Given the description of an element on the screen output the (x, y) to click on. 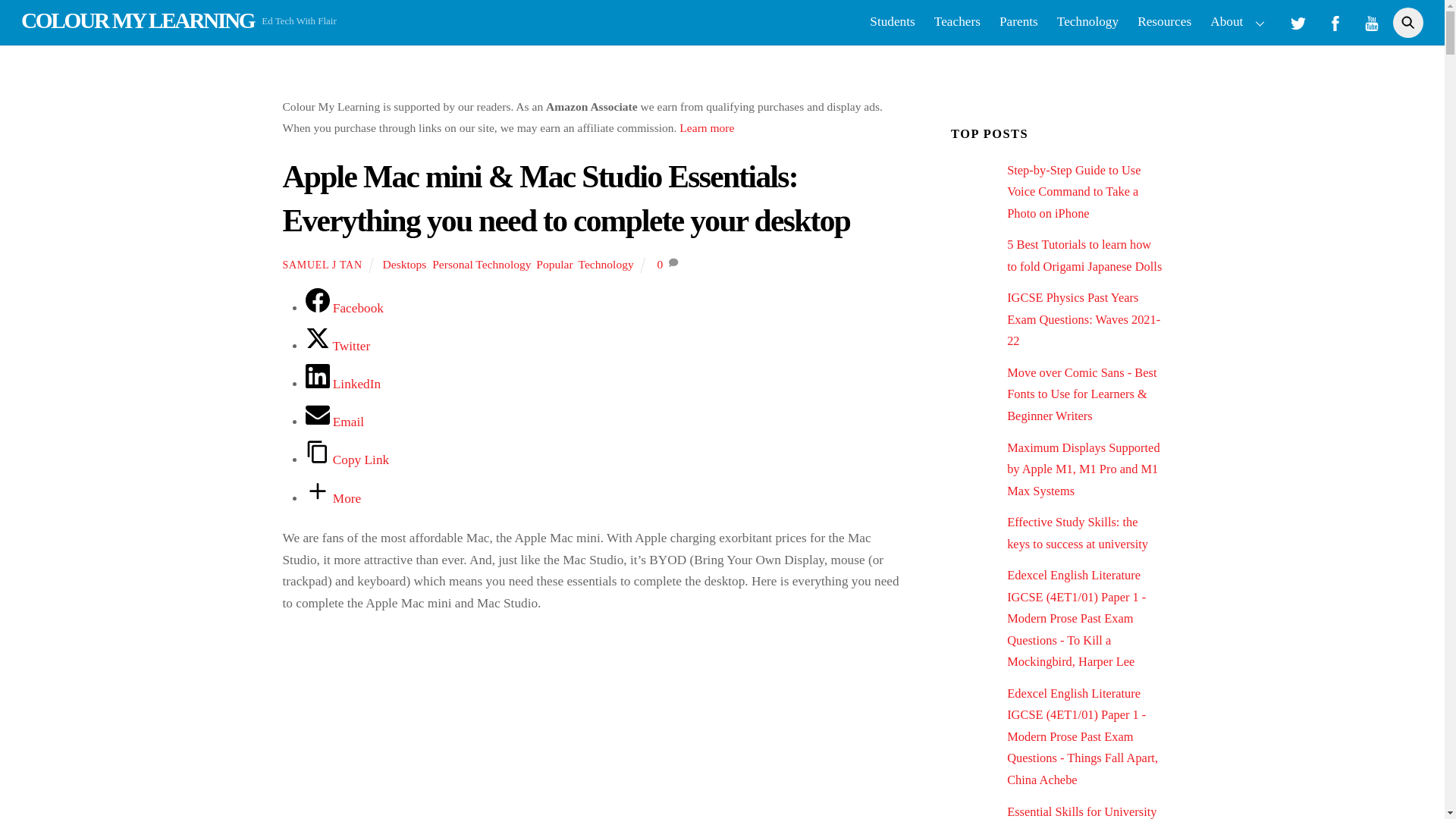
Copy Link (346, 459)
Education technology (1086, 22)
Content for students (892, 22)
SAMUEL J TAN (321, 265)
Facebook (343, 308)
Content for teachers (957, 22)
More (332, 498)
Desktops (404, 264)
Resources (1164, 22)
Parents (1018, 22)
